Given the description of an element on the screen output the (x, y) to click on. 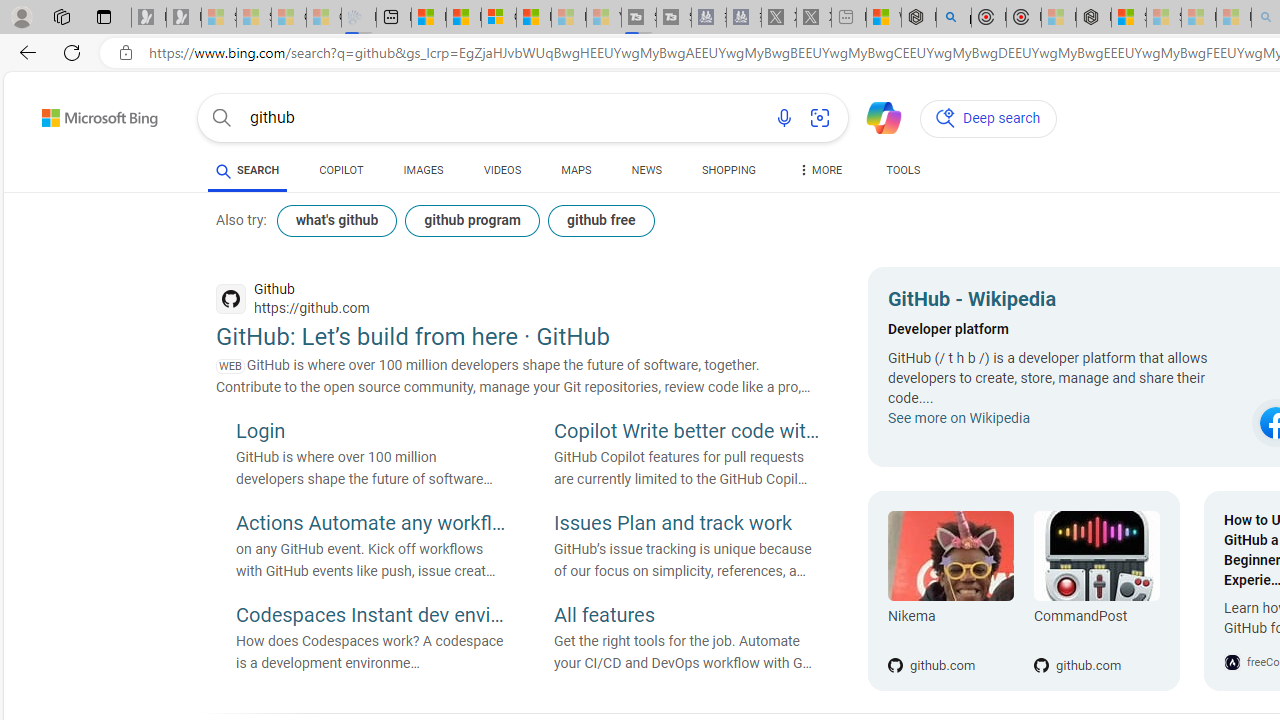
SEARCH (247, 170)
github free (600, 220)
Back to Bing search (87, 113)
Skip to content (64, 111)
Issues Plan and track work (689, 525)
Global Web Icon (1232, 662)
Nikema (950, 619)
NEWS (646, 170)
